Given the description of an element on the screen output the (x, y) to click on. 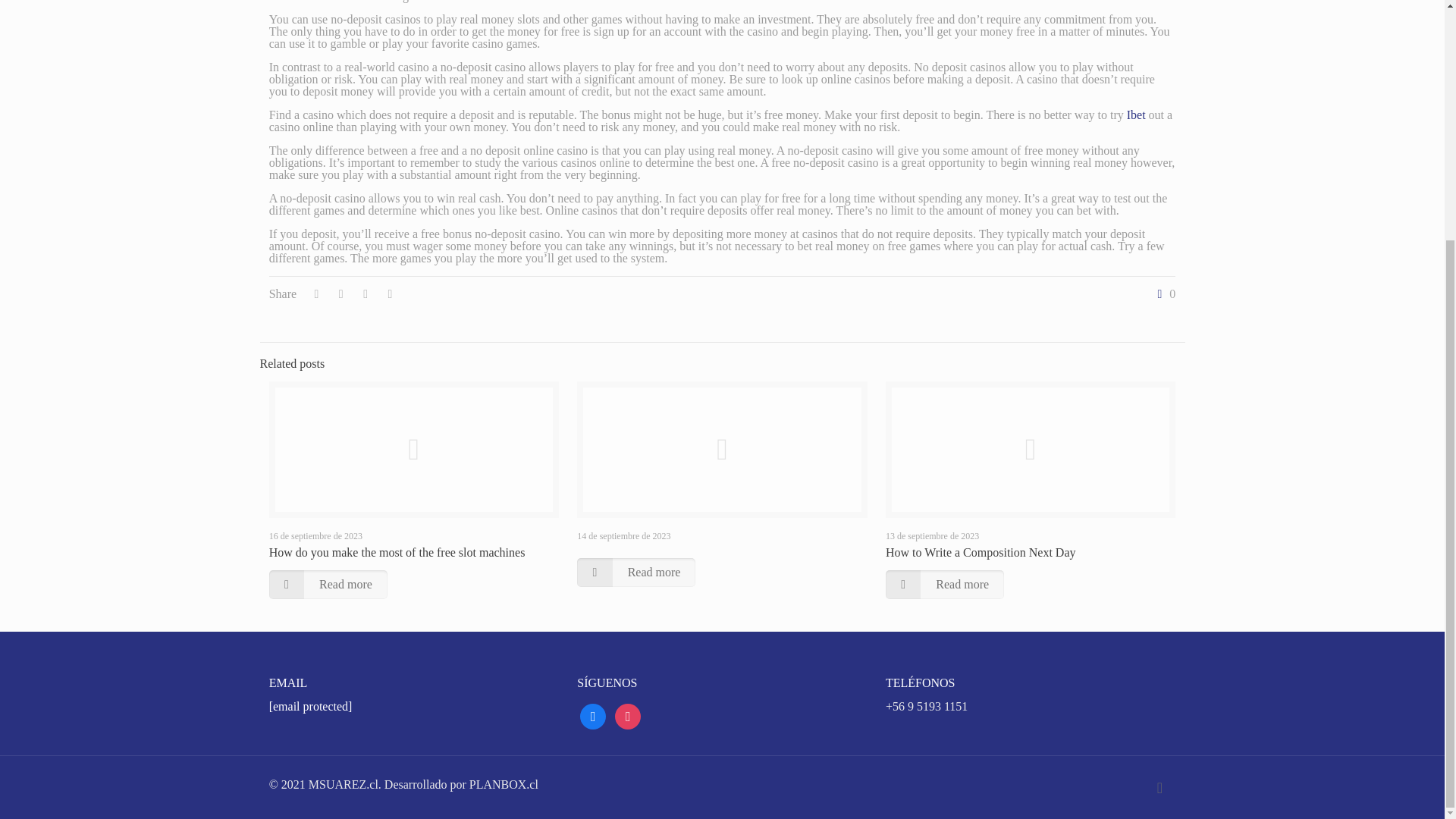
instagram (627, 715)
facebook (592, 715)
Read more (328, 584)
Instagram (627, 715)
How to Write a Composition Next Day (980, 552)
Read more (944, 584)
Read more (635, 572)
Facebook (592, 715)
How do you make the most of the free slot machines (397, 552)
0 (1162, 294)
Ibet (1135, 114)
